Given the description of an element on the screen output the (x, y) to click on. 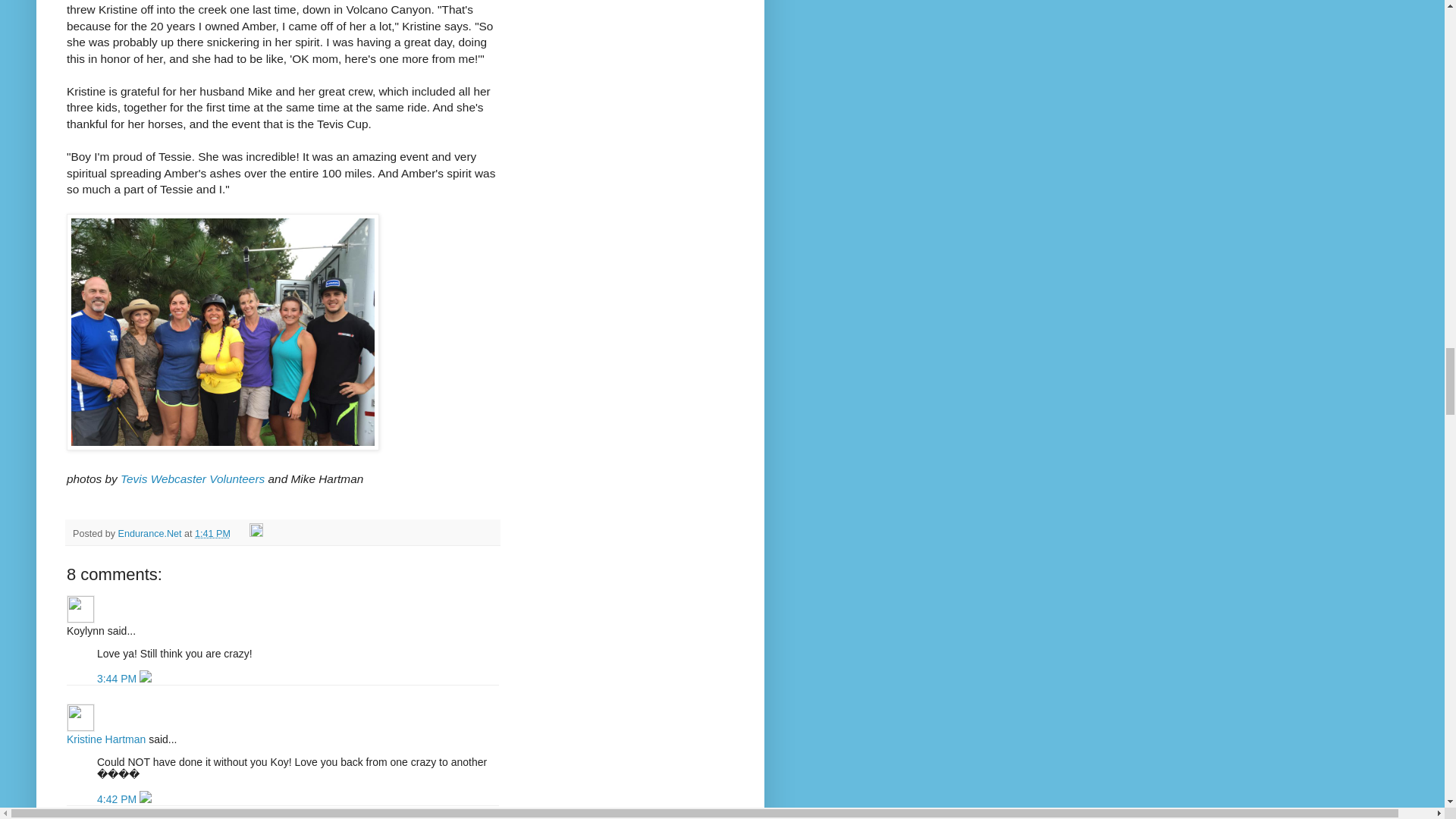
permanent link (212, 533)
Delete Comment (145, 799)
Kristine Hartman (105, 739)
Email Post (240, 533)
3:44 PM (118, 678)
Endurance.Net (150, 533)
1:41 PM (212, 533)
comment permalink (118, 678)
Edit Post (255, 533)
author profile (150, 533)
comment permalink (118, 799)
4:42 PM (118, 799)
Kristine Hartman (80, 717)
Koylynn (80, 609)
Tevis Webcaster Volunteers (192, 478)
